Given the description of an element on the screen output the (x, y) to click on. 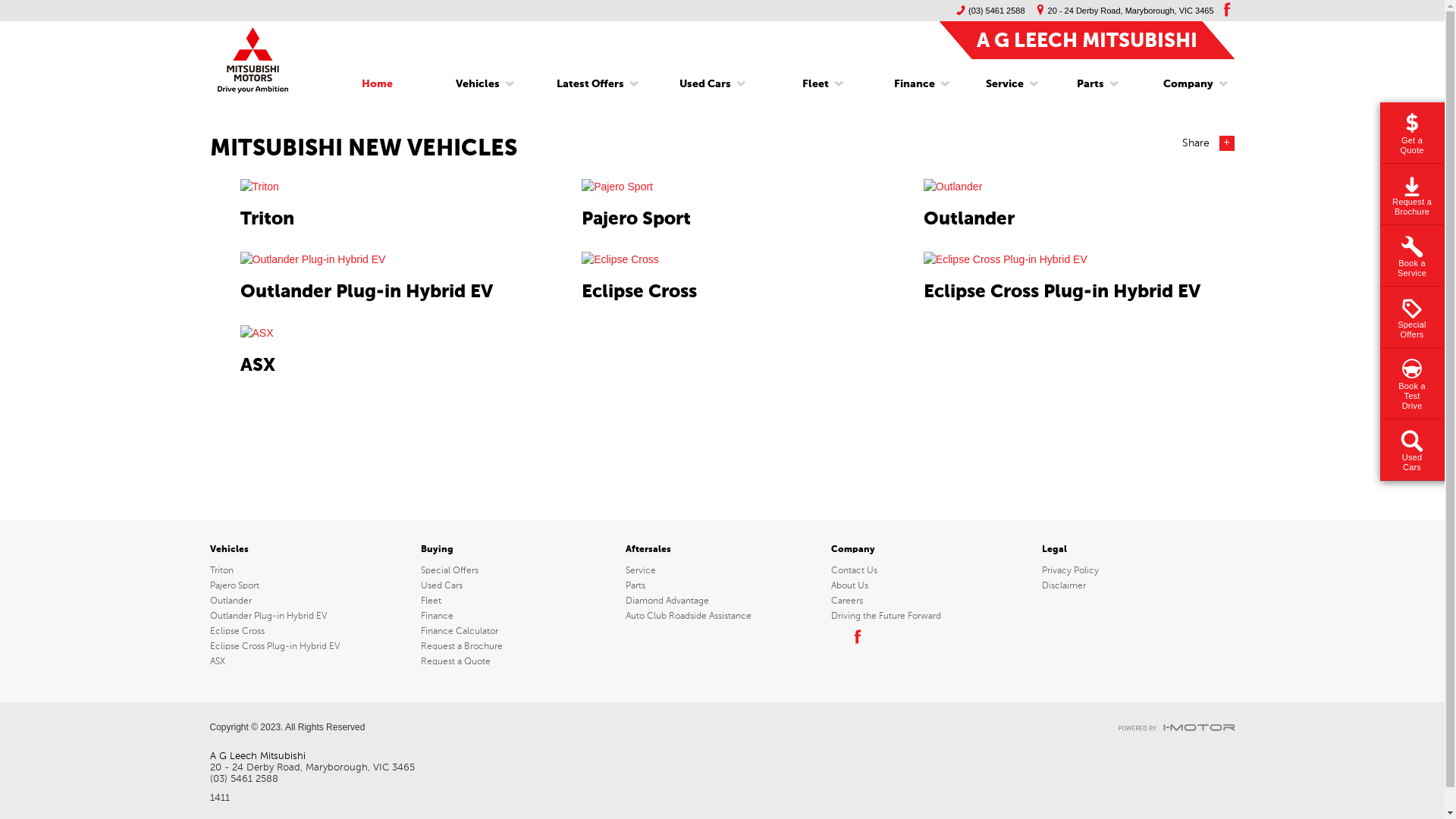
Pajero Sport Element type: text (311, 585)
Triton Element type: text (311, 569)
Privacy Policy Element type: text (1137, 569)
Parts Element type: text (1090, 83)
Home Element type: text (377, 83)
Parts Element type: text (721, 585)
facebook Element type: text (1224, 9)
Latest Offers Element type: text (590, 83)
Request a Brochure Element type: text (516, 645)
Special Offers Element type: text (516, 569)
Auto Club Roadside Assistance Element type: text (721, 615)
A G LEECH MITSUBISHI Element type: text (1086, 40)
Diamond Advantage Element type: text (721, 600)
Driving the Future Forward Element type: text (927, 615)
Service Element type: text (721, 569)
Company Element type: text (1182, 83)
About Us Element type: text (927, 585)
20 - 24 Derby Road, Maryborough, VIC 3465 Element type: text (1121, 10)
Contact Us Element type: text (927, 569)
Finance Element type: text (914, 83)
Eclipse Cross Element type: text (311, 630)
Outlander Plug-in Hybrid EV Element type: text (311, 615)
Disclaimer Element type: text (1137, 585)
Vehicles Element type: text (477, 83)
ASX Element type: text (311, 660)
Fleet Element type: text (516, 600)
Eclipse Cross Plug-in Hybrid EV Element type: text (311, 645)
Finance Element type: text (516, 615)
+ Element type: text (1226, 142)
Used Cars Element type: text (705, 83)
Fleet Element type: text (815, 83)
Outlander Element type: text (311, 600)
Request a Quote Element type: text (516, 660)
Used Cars Element type: text (516, 585)
Careers Element type: text (927, 600)
facebook Element type: text (856, 636)
Service Element type: text (1004, 83)
Finance Calculator Element type: text (516, 630)
